Given the description of an element on the screen output the (x, y) to click on. 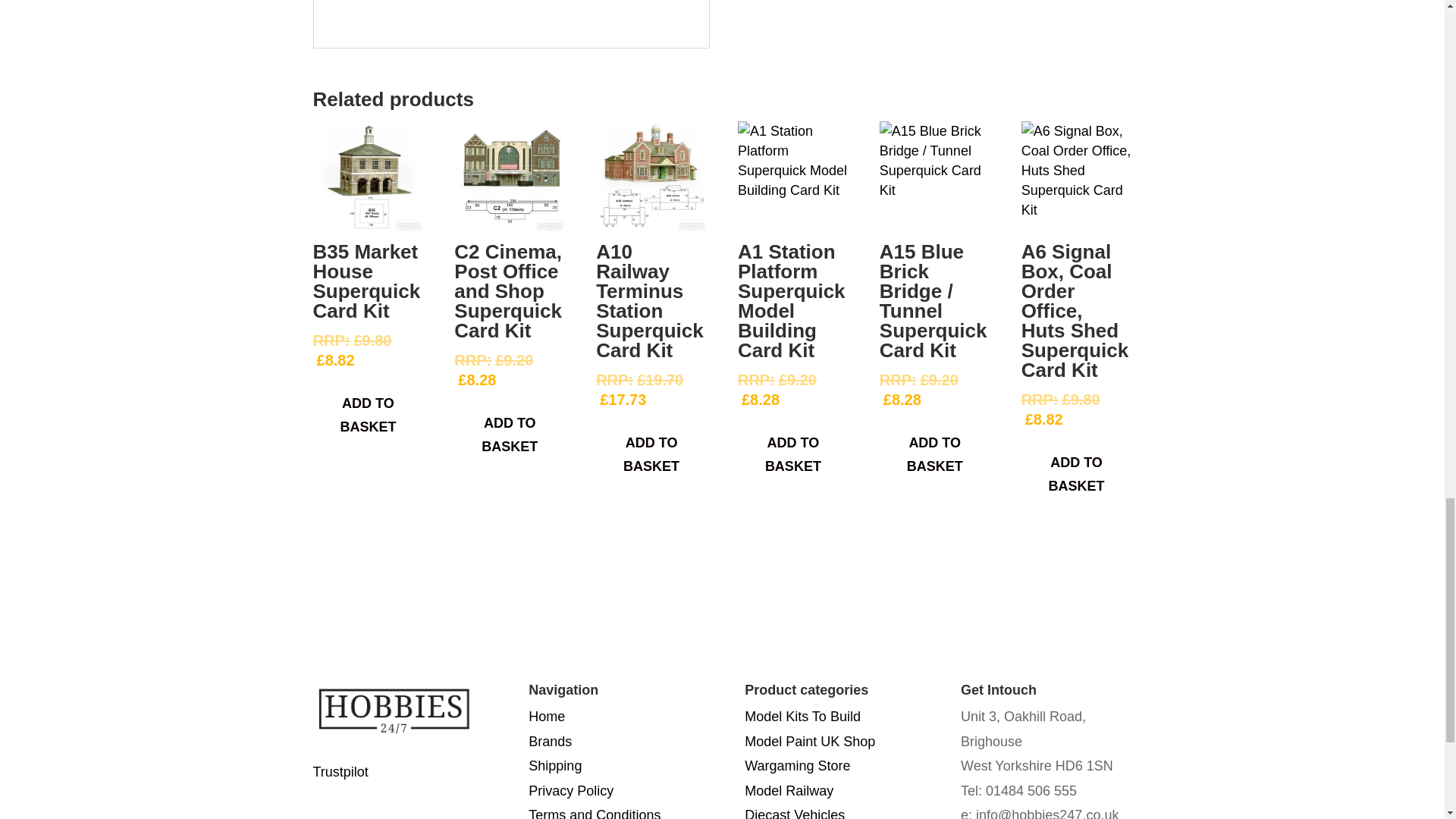
hobbies247.co.uk (546, 716)
Shipping and Postage (554, 765)
Diecast Vehicles (794, 813)
Terms and Conditions (594, 813)
Privacy Policy (570, 789)
Wargaming Store (797, 765)
logo (398, 710)
Model Kits To Build (802, 716)
Model Paint UK Shop (809, 741)
Model Railway (788, 789)
Brands (550, 741)
